Given the description of an element on the screen output the (x, y) to click on. 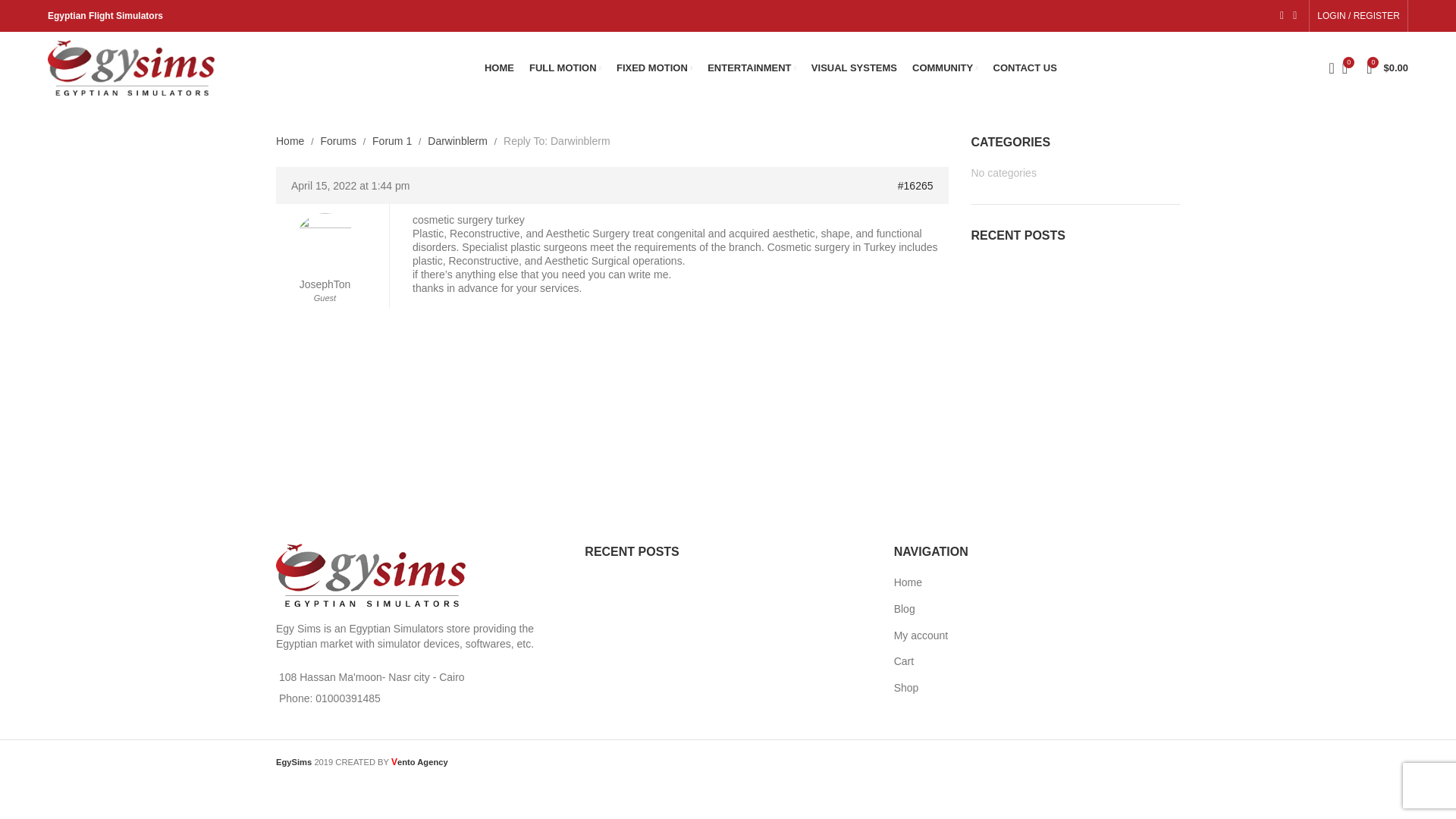
Home (290, 141)
COMMUNITY (945, 68)
Shopping cart (1386, 68)
ENTERTAINMENT (751, 68)
VISUAL SYSTEMS (853, 68)
Forums (337, 141)
My account (1357, 15)
FULL MOTION (565, 68)
FIXED MOTION (654, 68)
HOME (498, 68)
